Given the description of an element on the screen output the (x, y) to click on. 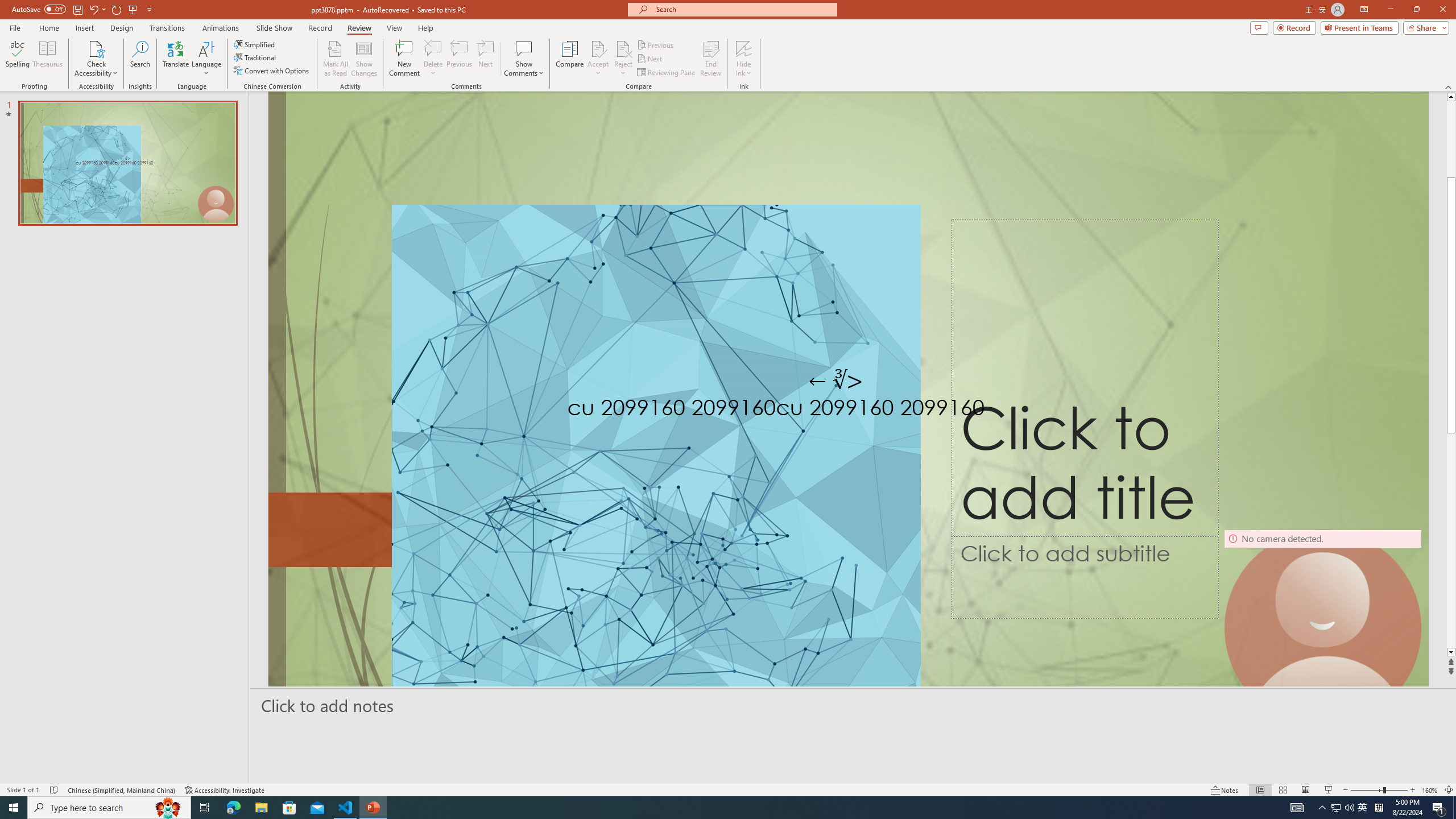
Collapse the Ribbon (1448, 86)
End Review (710, 58)
Restore Down (1416, 9)
Reject (622, 58)
Save (77, 9)
Delete (432, 58)
Zoom Out (1367, 790)
Insert (83, 28)
Slide Notes (852, 705)
From Beginning (133, 9)
Redo (117, 9)
